Given the description of an element on the screen output the (x, y) to click on. 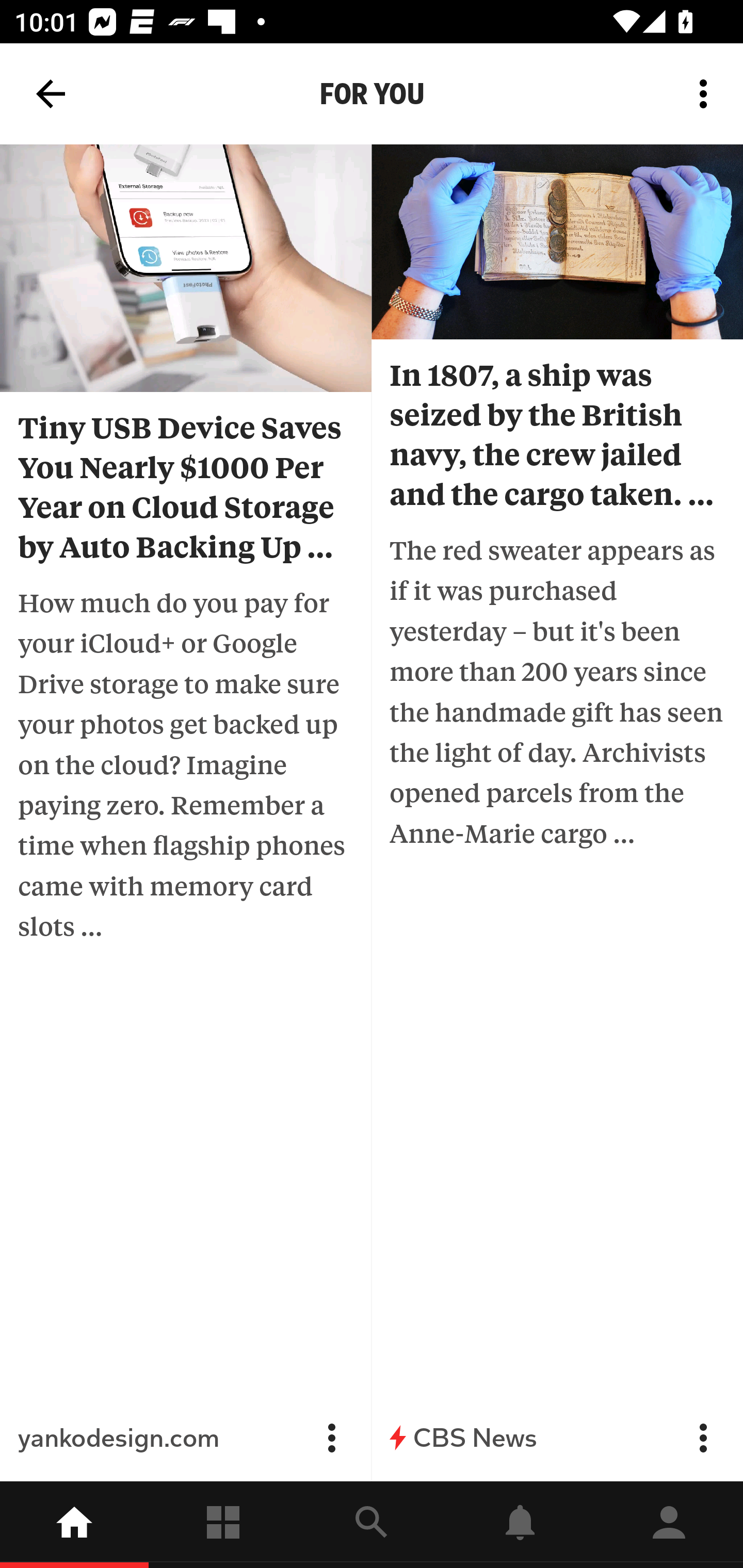
FOR YOU (99, 84)
FOR YOU (371, 93)
More options (706, 93)
yankodesign.com Flip into Magazine (185, 1437)
CBS News Flip into Magazine (557, 1437)
Flip into Magazine (331, 1437)
Flip into Magazine (703, 1437)
home (74, 1524)
Following (222, 1524)
explore (371, 1524)
Notifications (519, 1524)
Profile (668, 1524)
